Given the description of an element on the screen output the (x, y) to click on. 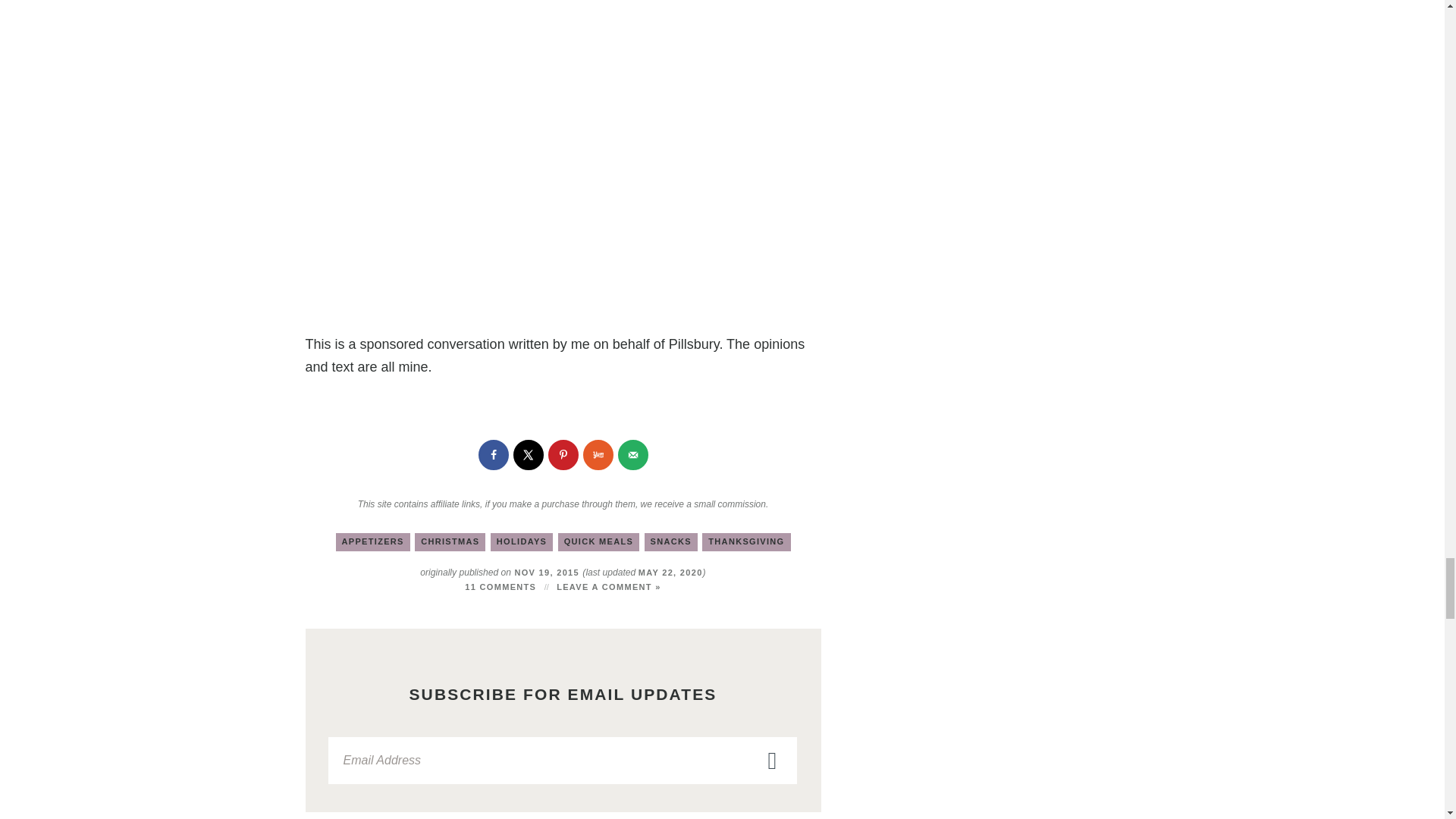
Save to Pinterest (562, 454)
Share on Facebook (492, 454)
Share on X (527, 454)
Share on Yummly (597, 454)
Send over email (632, 454)
